Given the description of an element on the screen output the (x, y) to click on. 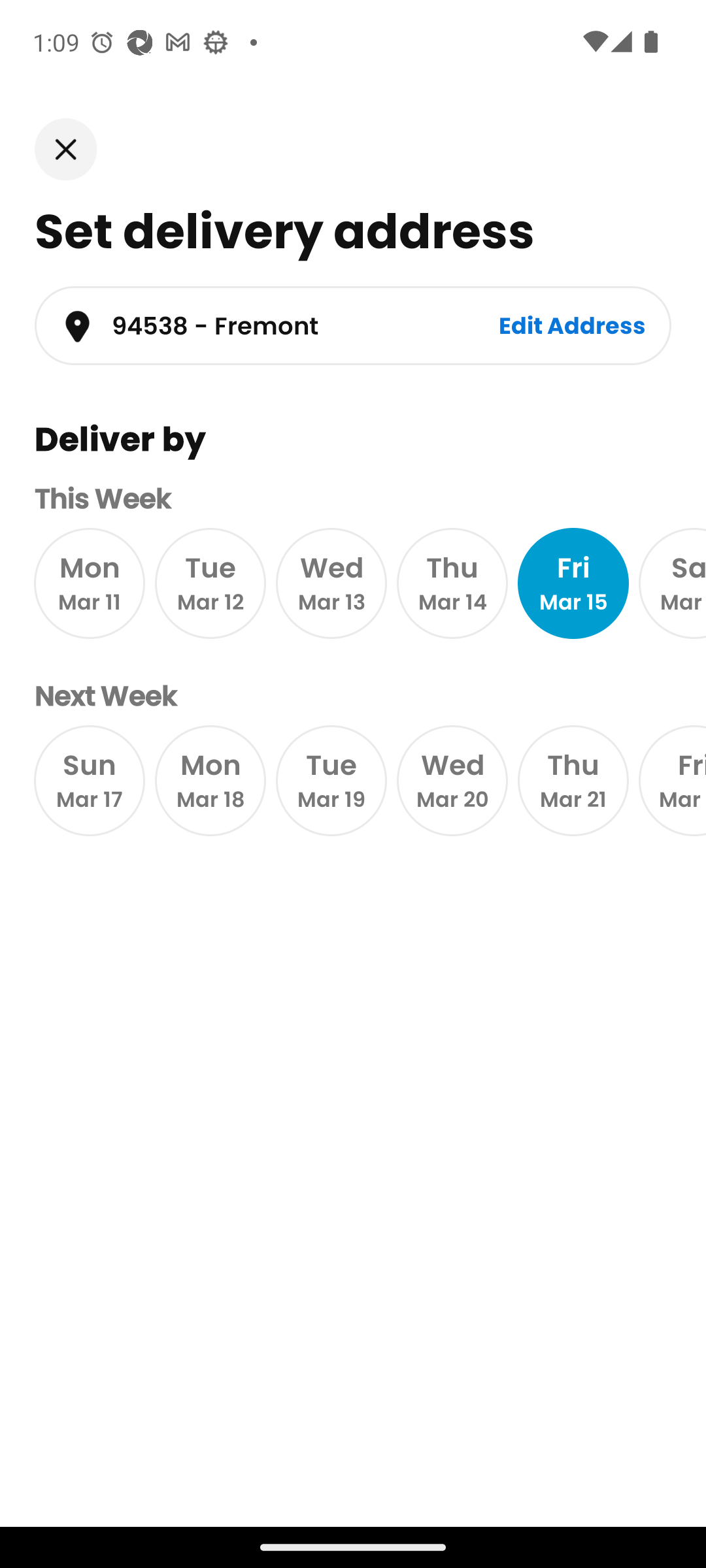
94538 - Fremont Edit Address (352, 325)
Mon Mar 11 (89, 583)
Tue Mar 12 (210, 583)
Wed Mar 13 (331, 583)
Thu Mar 14 (451, 583)
Fri Mar 15 (573, 583)
Sat Mar 16 (672, 583)
Sun Mar 17 (89, 779)
Mon Mar 18 (210, 779)
Tue Mar 19 (331, 779)
Wed Mar 20 (451, 779)
Thu Mar 21 (573, 779)
Fri Mar 22 (672, 779)
